Given the description of an element on the screen output the (x, y) to click on. 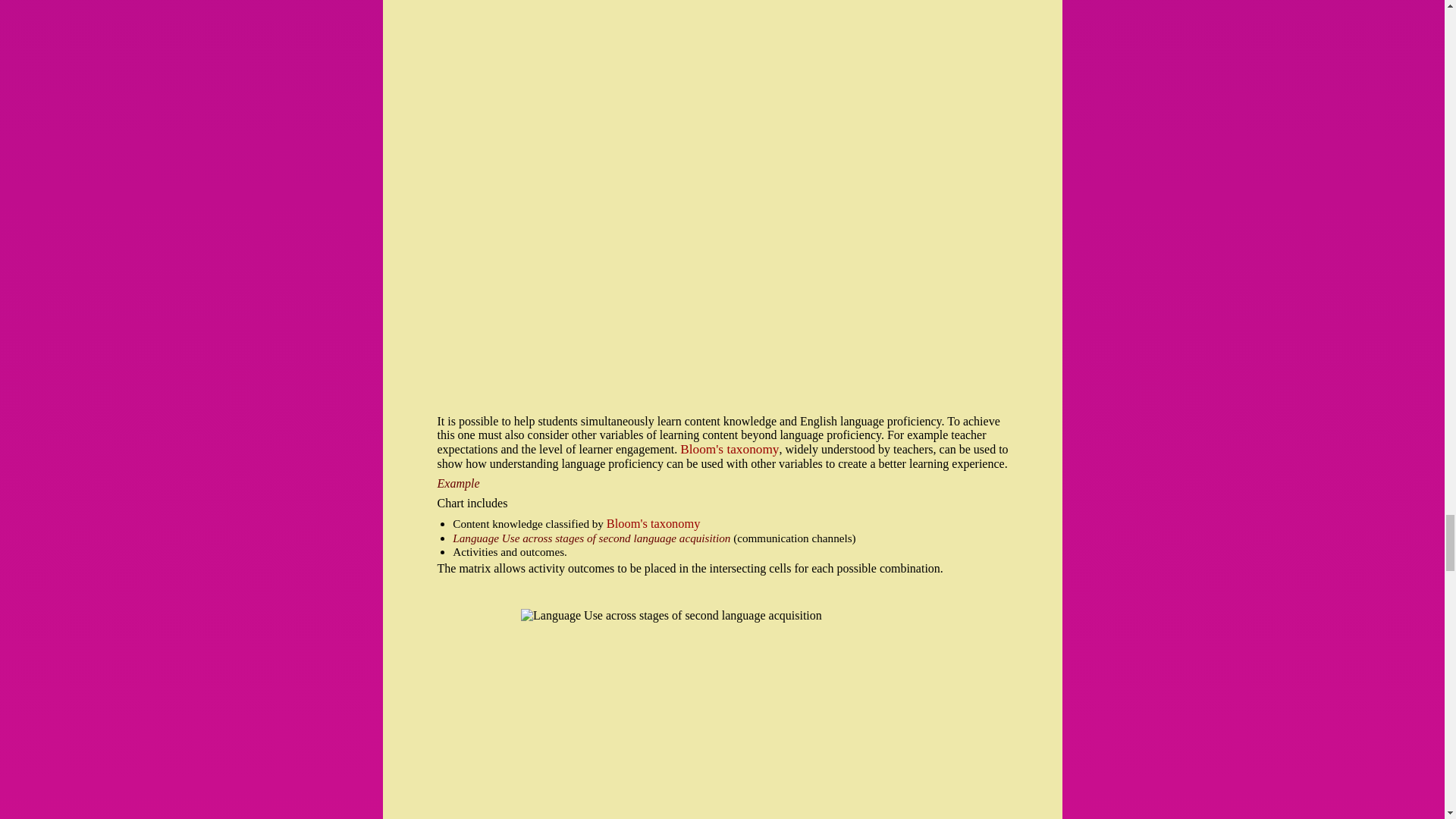
Bloom's taxonomy (728, 449)
Bloom's taxonomy (653, 523)
